Given the description of an element on the screen output the (x, y) to click on. 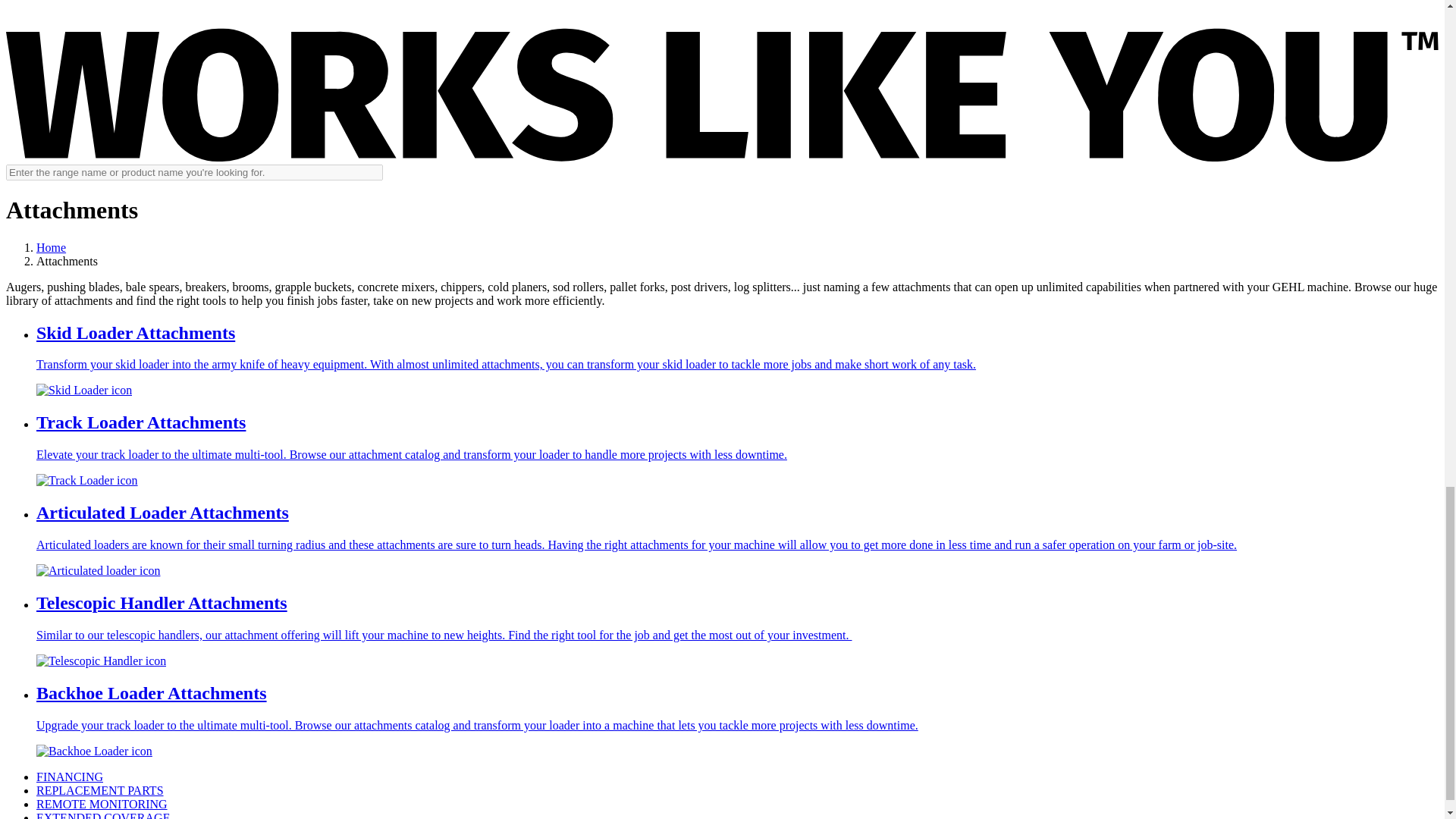
Home (50, 246)
REMOTE MONITORING (101, 803)
FINANCING (69, 776)
REPLACEMENT PARTS (99, 789)
